Given the description of an element on the screen output the (x, y) to click on. 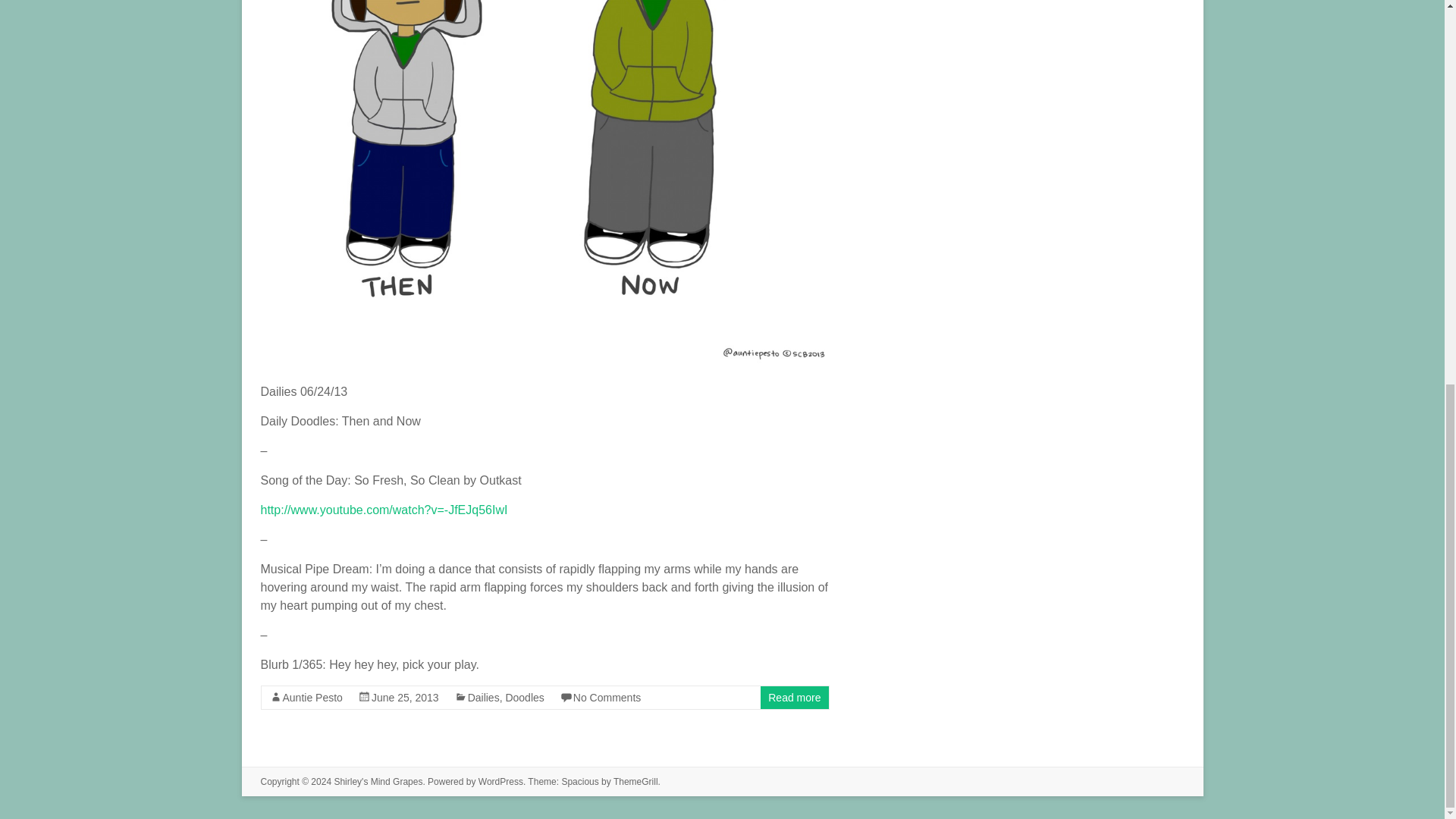
Doodles (524, 697)
WordPress (500, 781)
Dailies (483, 697)
June 25, 2013 (405, 697)
WordPress (500, 781)
Read more (794, 697)
ThemeGrill (635, 781)
Auntie Pesto (312, 697)
5:59 am (405, 697)
No Comments (606, 697)
